Given the description of an element on the screen output the (x, y) to click on. 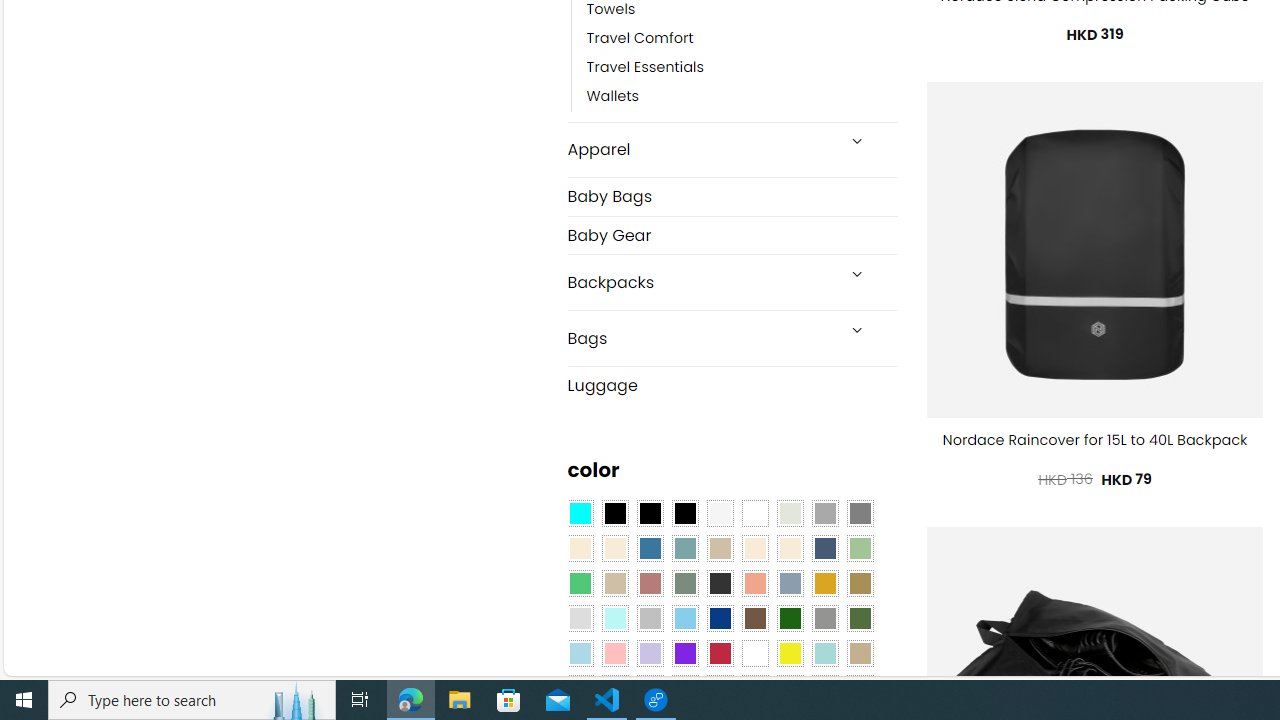
Coral (755, 583)
Caramel (755, 548)
Baby Bags (732, 196)
Beige (579, 548)
